Given the description of an element on the screen output the (x, y) to click on. 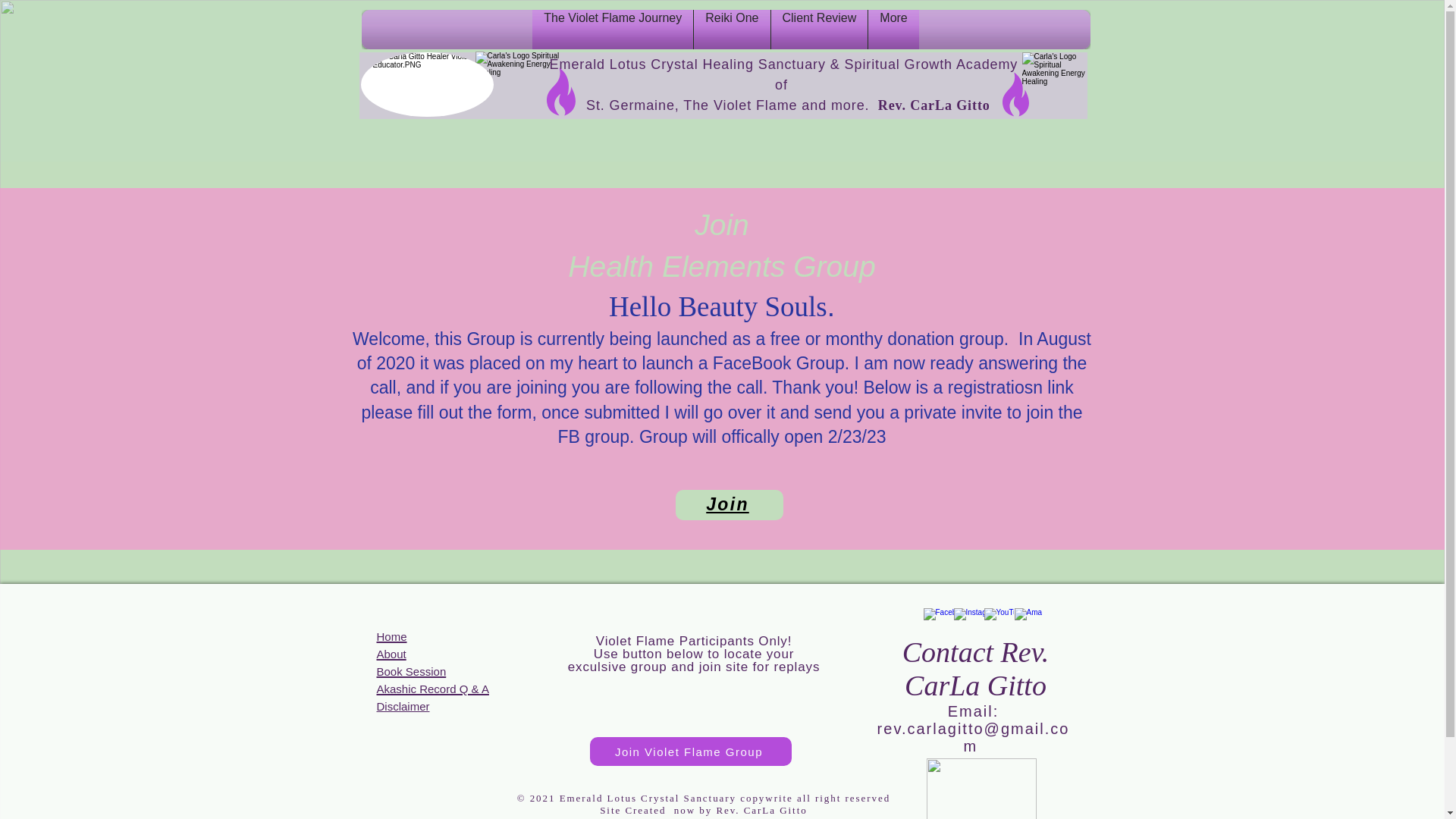
Join (729, 504)
Home (390, 635)
 Raving Fans Reviews (1054, 84)
 Raving Fans Reviews (519, 82)
About (390, 652)
The Violet Flame Journey (611, 29)
Client Review (819, 29)
Book Session (410, 669)
Reiki One (731, 29)
Disclaimer (402, 704)
